Given the description of an element on the screen output the (x, y) to click on. 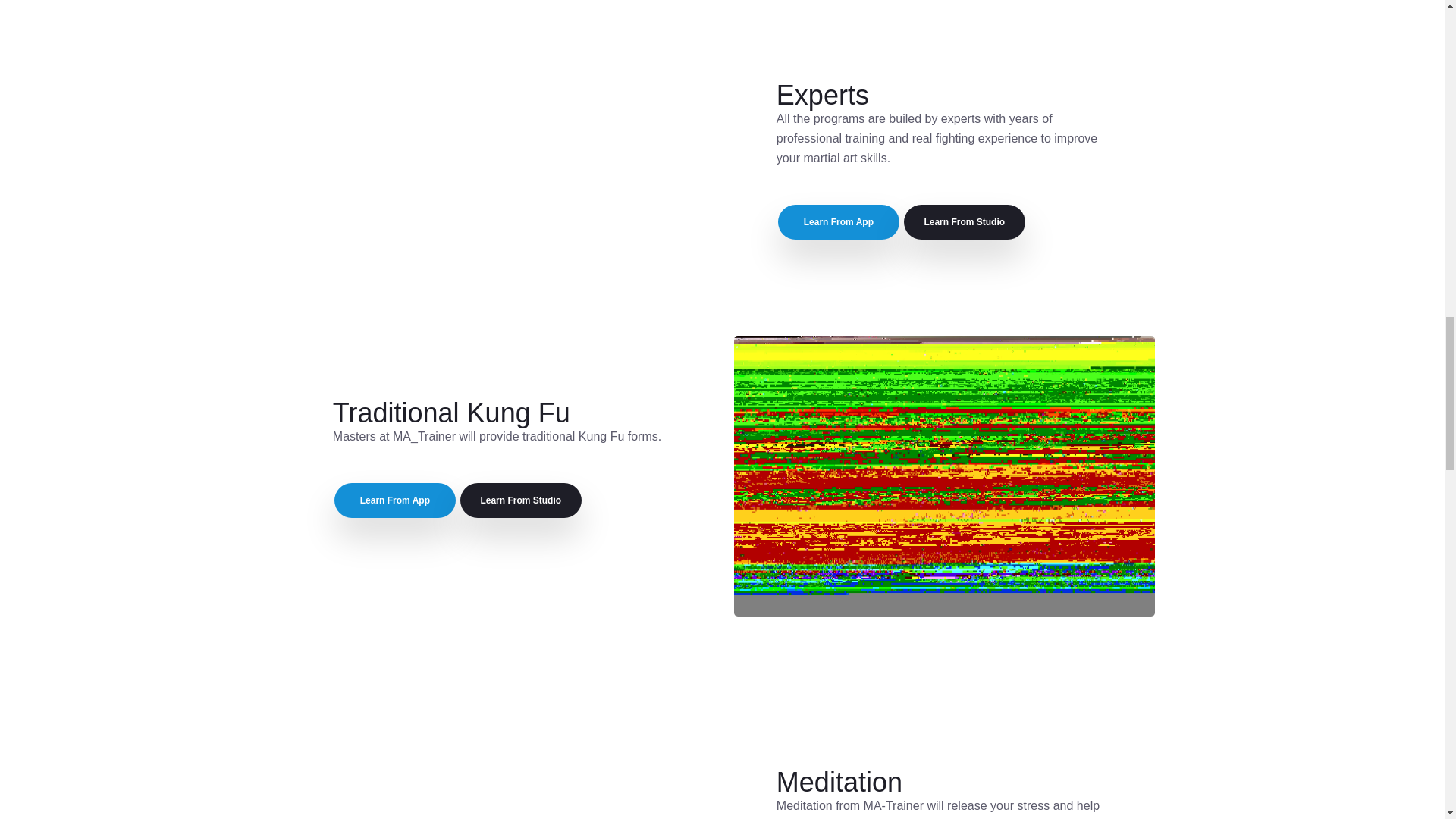
Learn From App (394, 500)
Learn From Studio (520, 500)
Learn From Studio (964, 221)
Learn From App (838, 221)
